Given the description of an element on the screen output the (x, y) to click on. 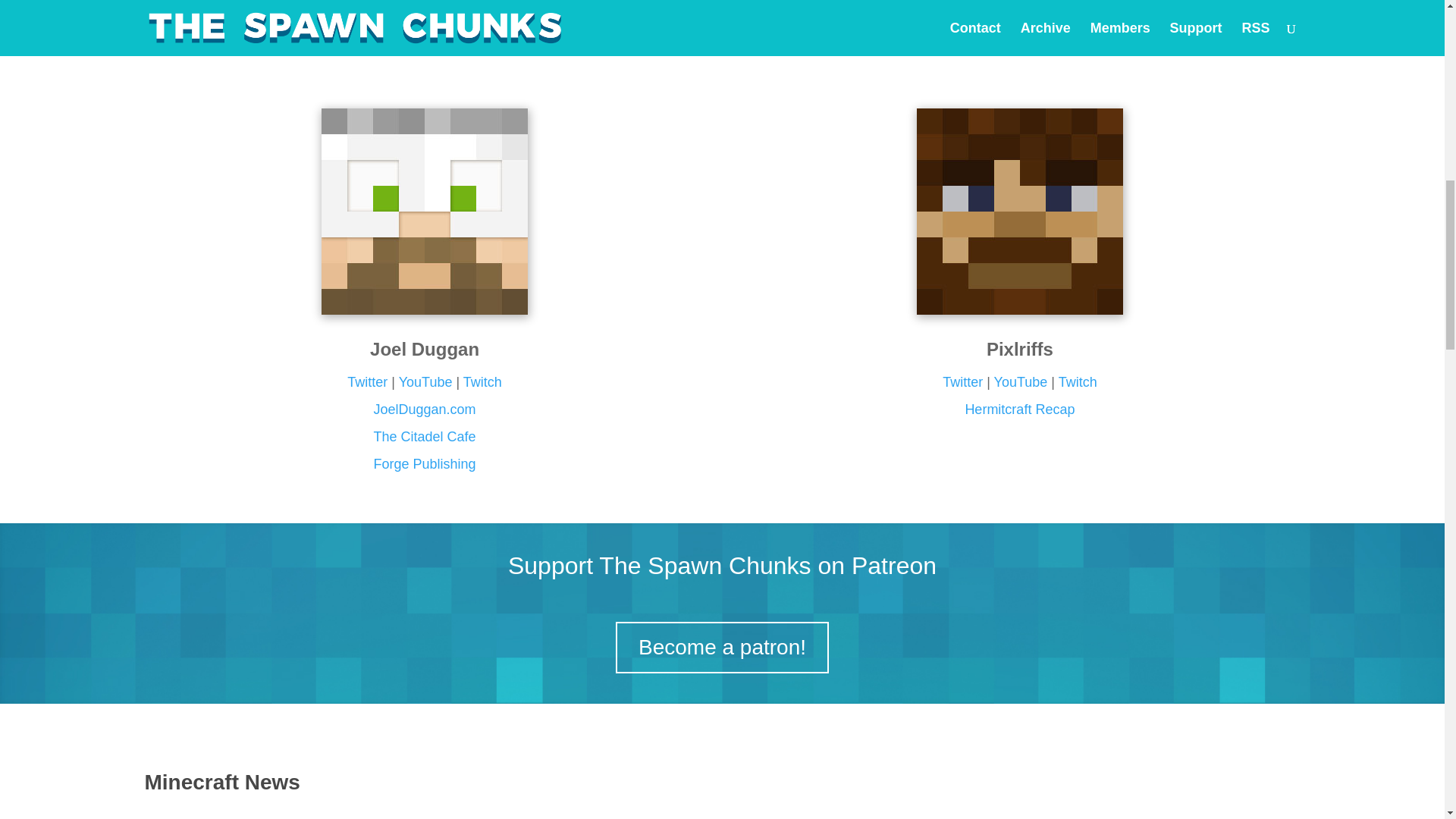
Twitter (367, 381)
Twitch (1077, 381)
Hermitcraft Recap (1018, 409)
Forge Publishing (425, 463)
Become a patron! (721, 647)
YouTube (425, 381)
YouTube (1021, 381)
The Citadel Cafe (425, 450)
Twitch (482, 381)
Twitter (962, 381)
JoelDuggan.com (425, 409)
